Given the description of an element on the screen output the (x, y) to click on. 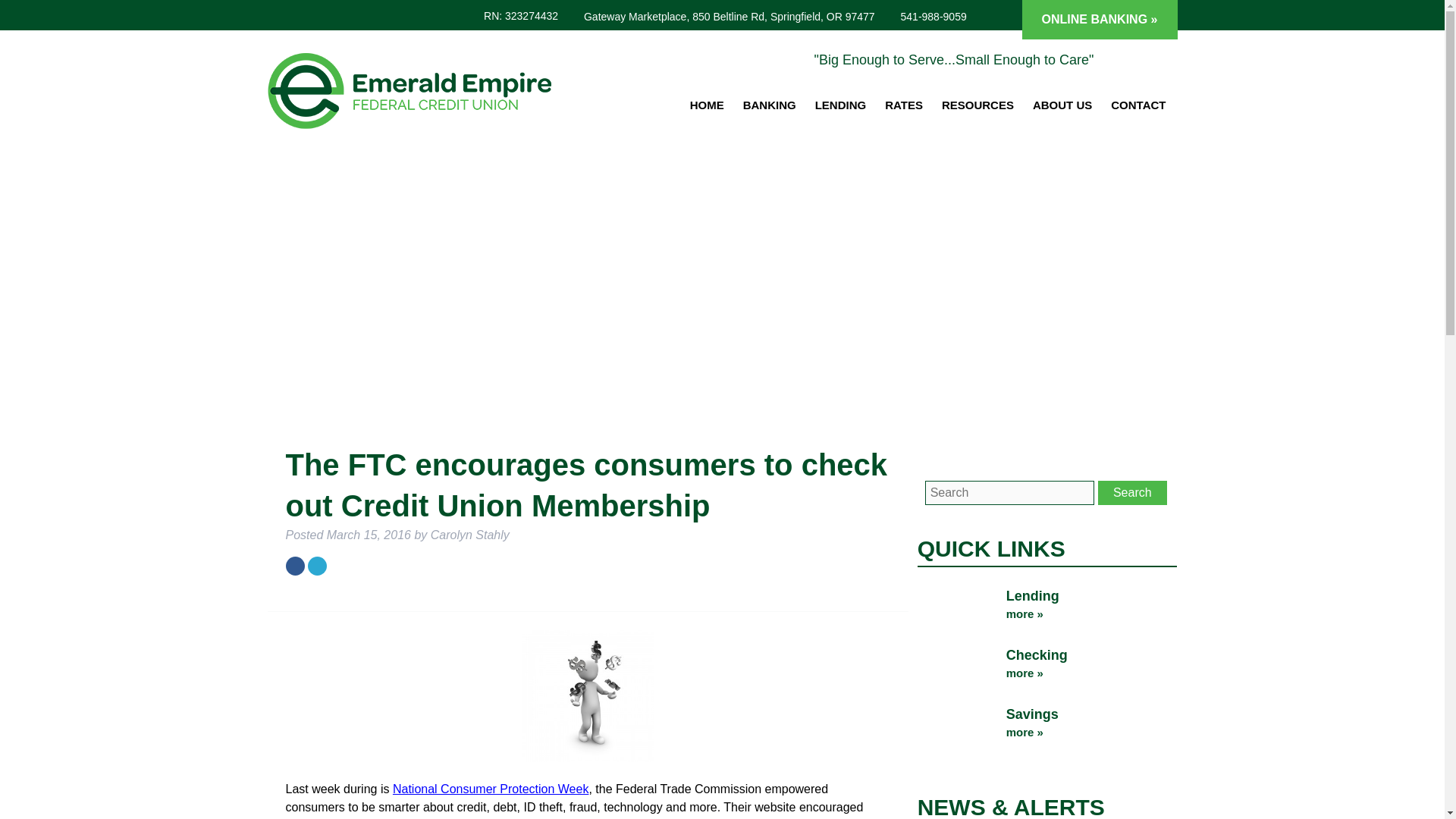
RATES (905, 105)
HOME (708, 105)
LENDING (842, 105)
541-988-9059 (931, 16)
Gateway Marketplace, 850 Beltline Rd, Springfield, OR 97477 (727, 16)
BANKING (771, 105)
